Given the description of an element on the screen output the (x, y) to click on. 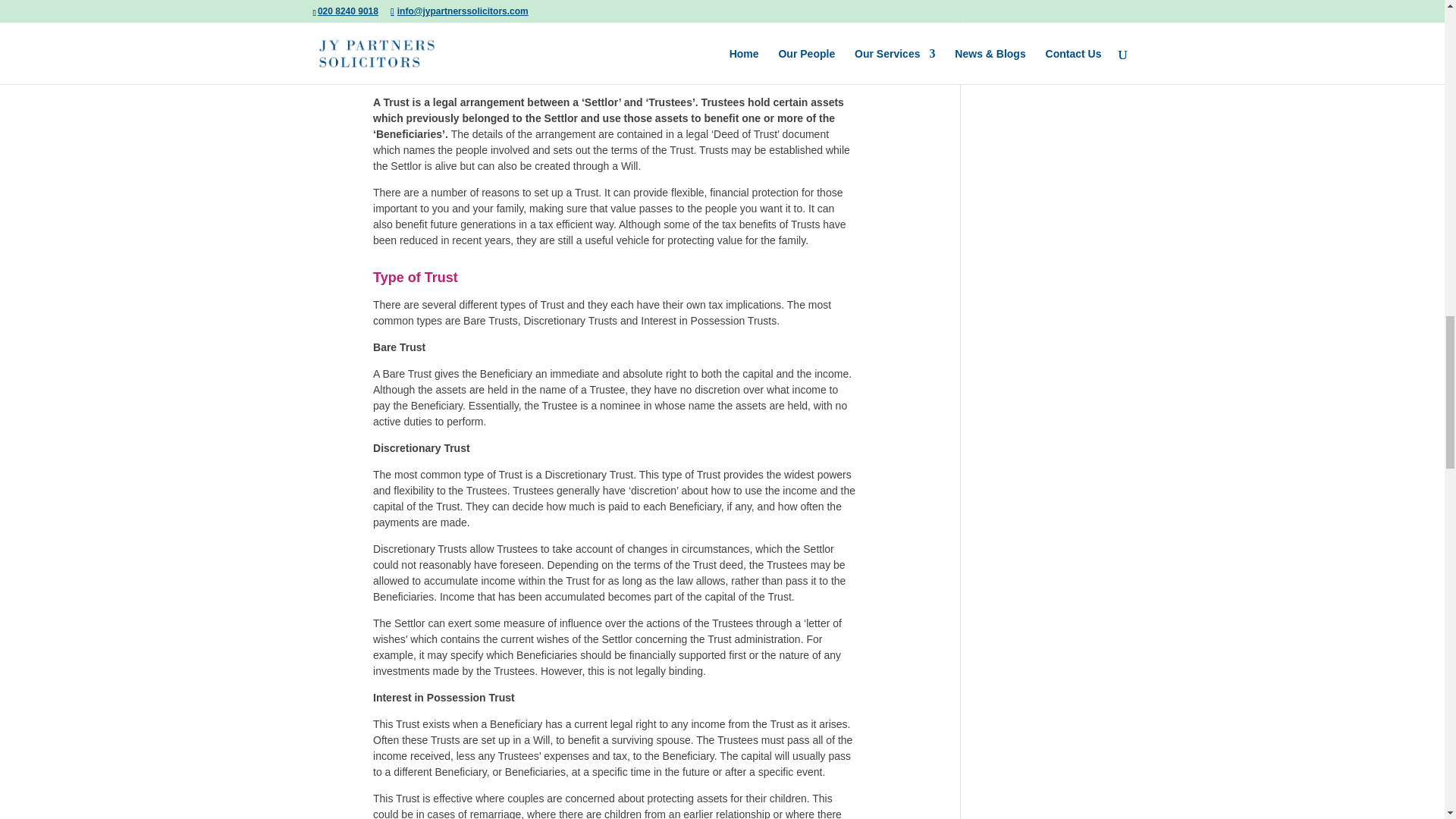
Blogs - Trust and Estates (371, 15)
